Given the description of an element on the screen output the (x, y) to click on. 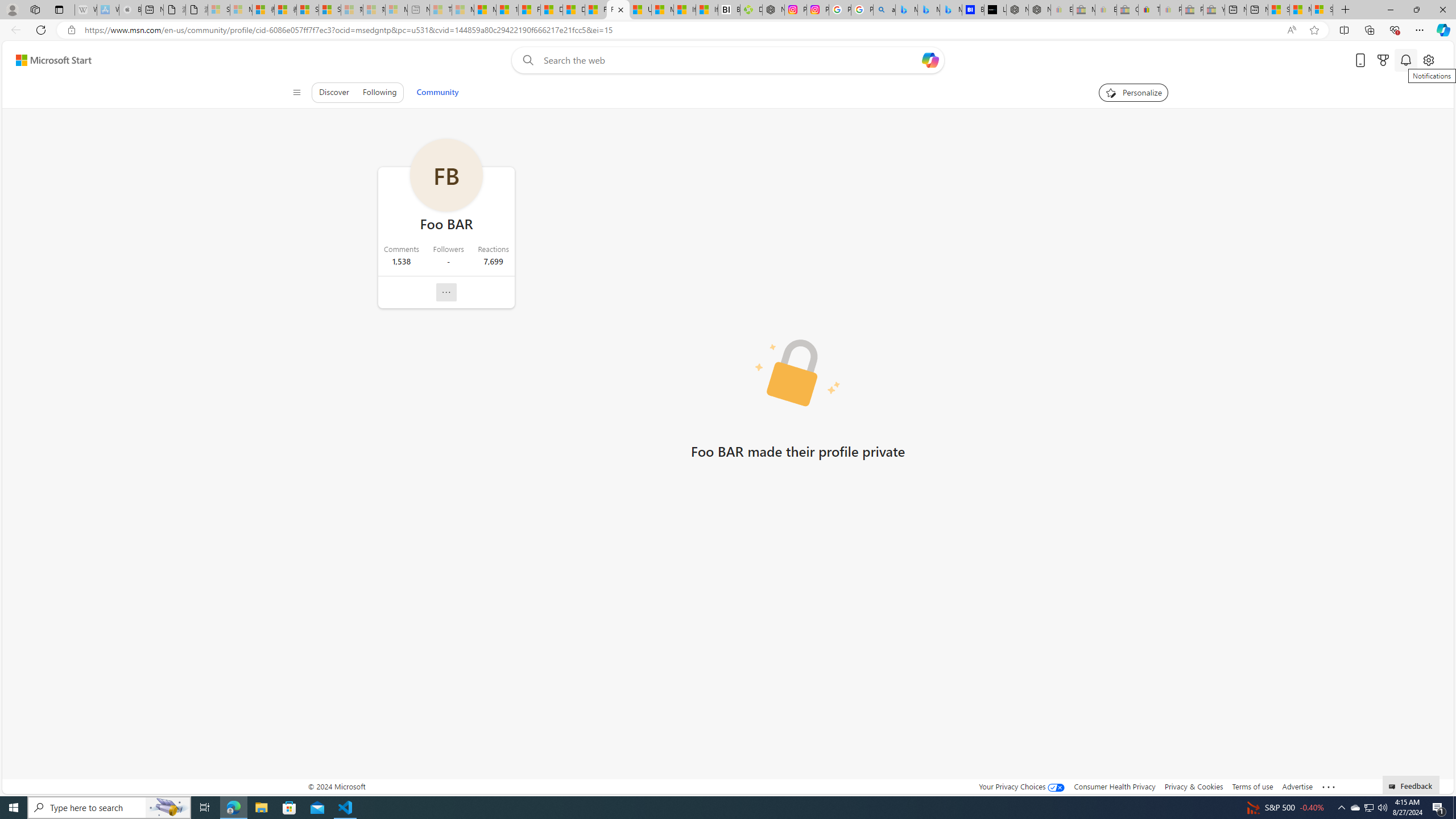
Drinking tea every day is proven to delay biological aging (573, 9)
Yard, Garden & Outdoor Living - Sleeping (1214, 9)
Report profile (446, 292)
Personalize your feed" (1132, 92)
